Given the description of an element on the screen output the (x, y) to click on. 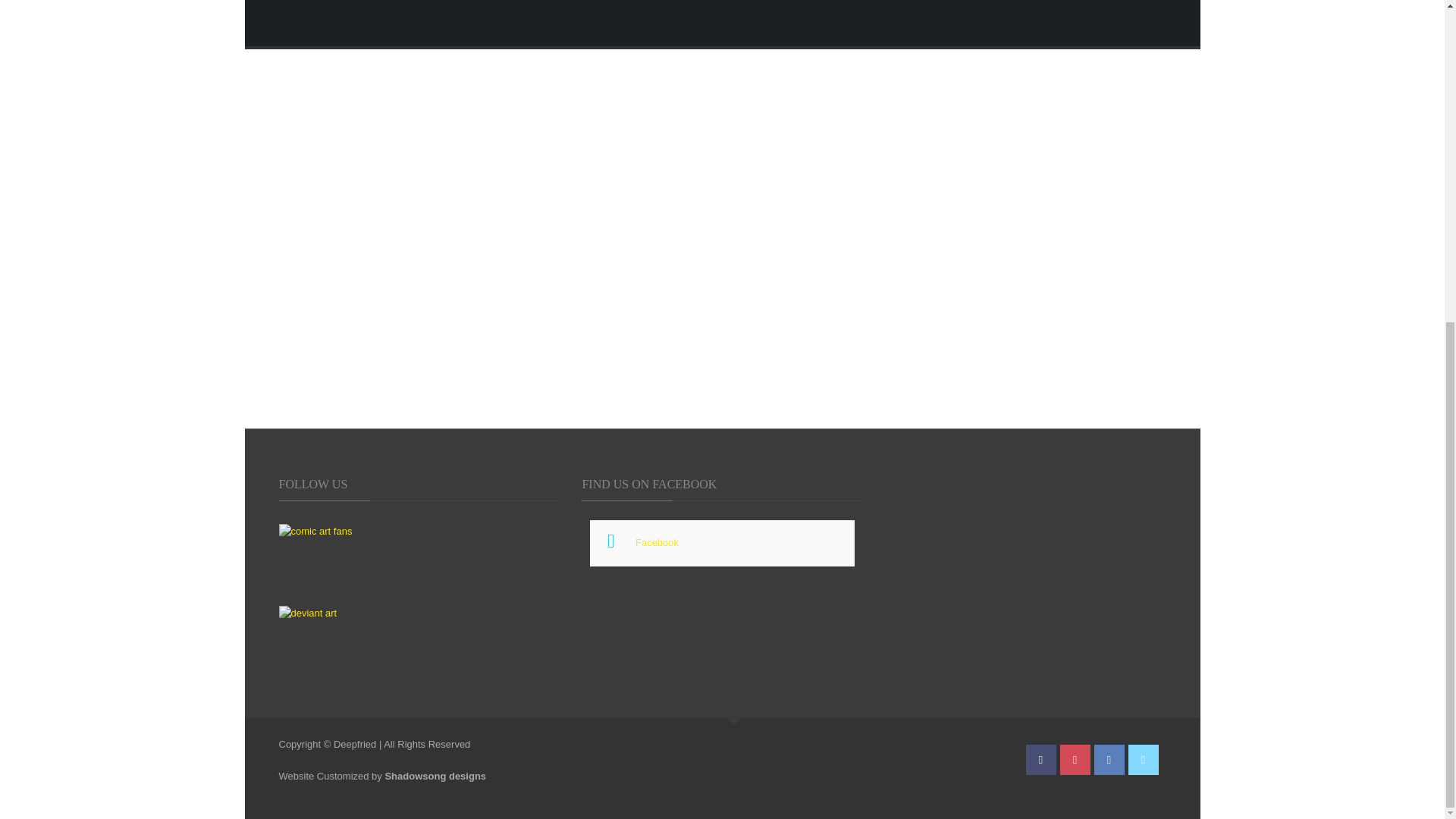
Shadowsong designs (435, 776)
Facebook (1108, 759)
Twitter (1143, 759)
Vimeo (1040, 759)
Youtube (1074, 759)
Facebook (656, 542)
